Given the description of an element on the screen output the (x, y) to click on. 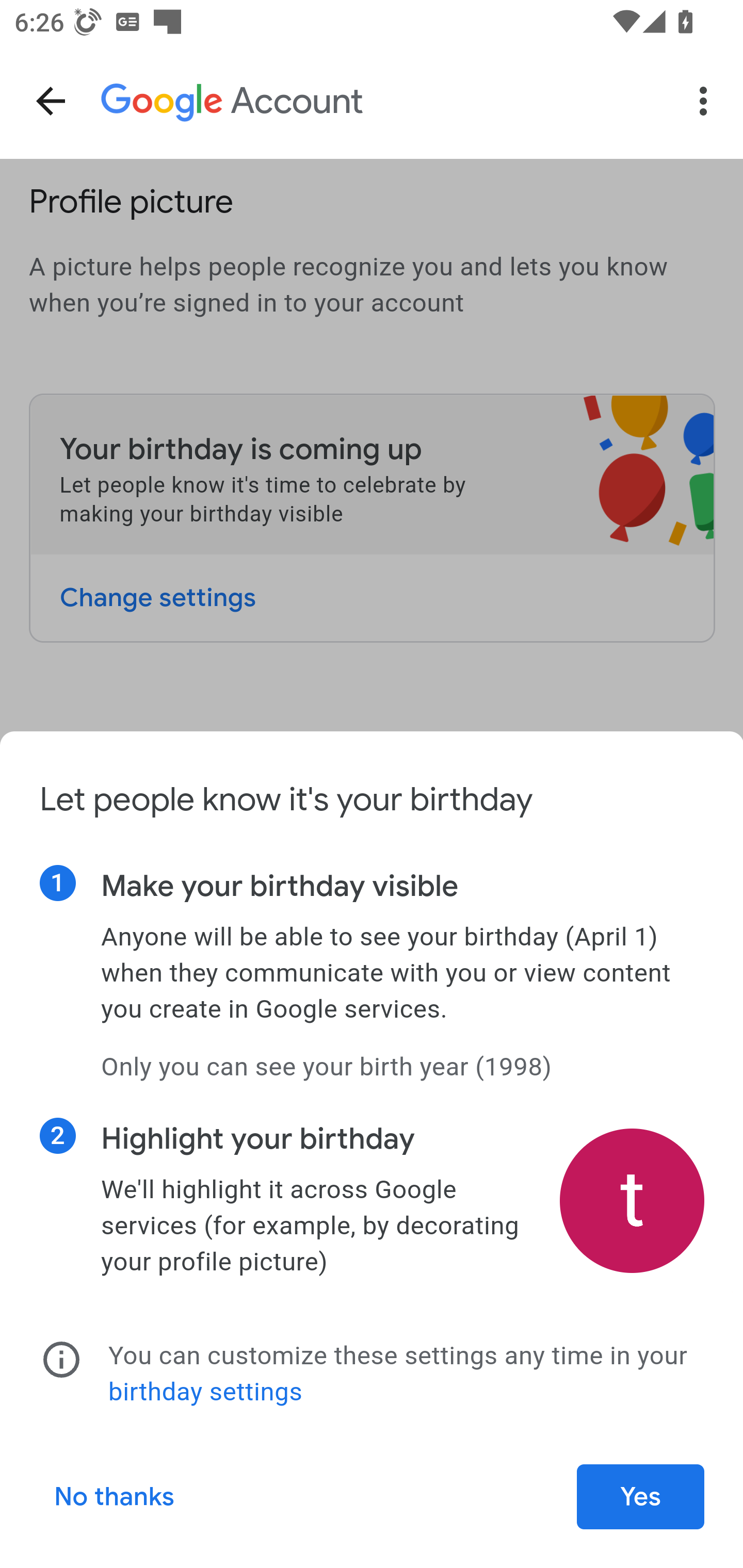
Navigate up (50, 101)
More options (706, 101)
birthday settings (205, 1391)
No thanks (114, 1496)
Yes (640, 1496)
